Given the description of an element on the screen output the (x, y) to click on. 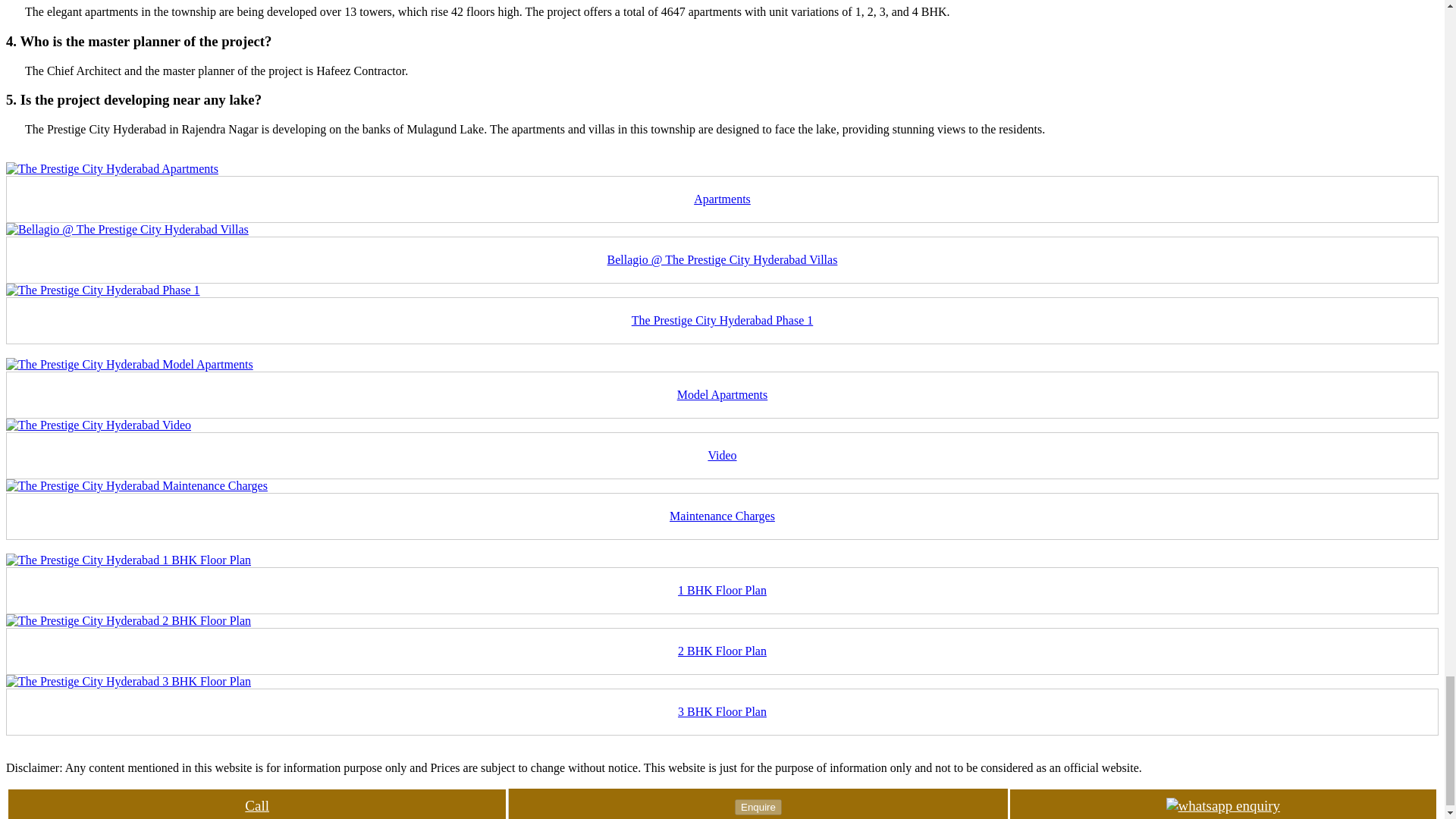
Model Apartments (722, 394)
Video (721, 454)
The Prestige City Hyderabad Phase 1 (722, 319)
Maintenance Charges (721, 515)
Apartments (722, 198)
